Given the description of an element on the screen output the (x, y) to click on. 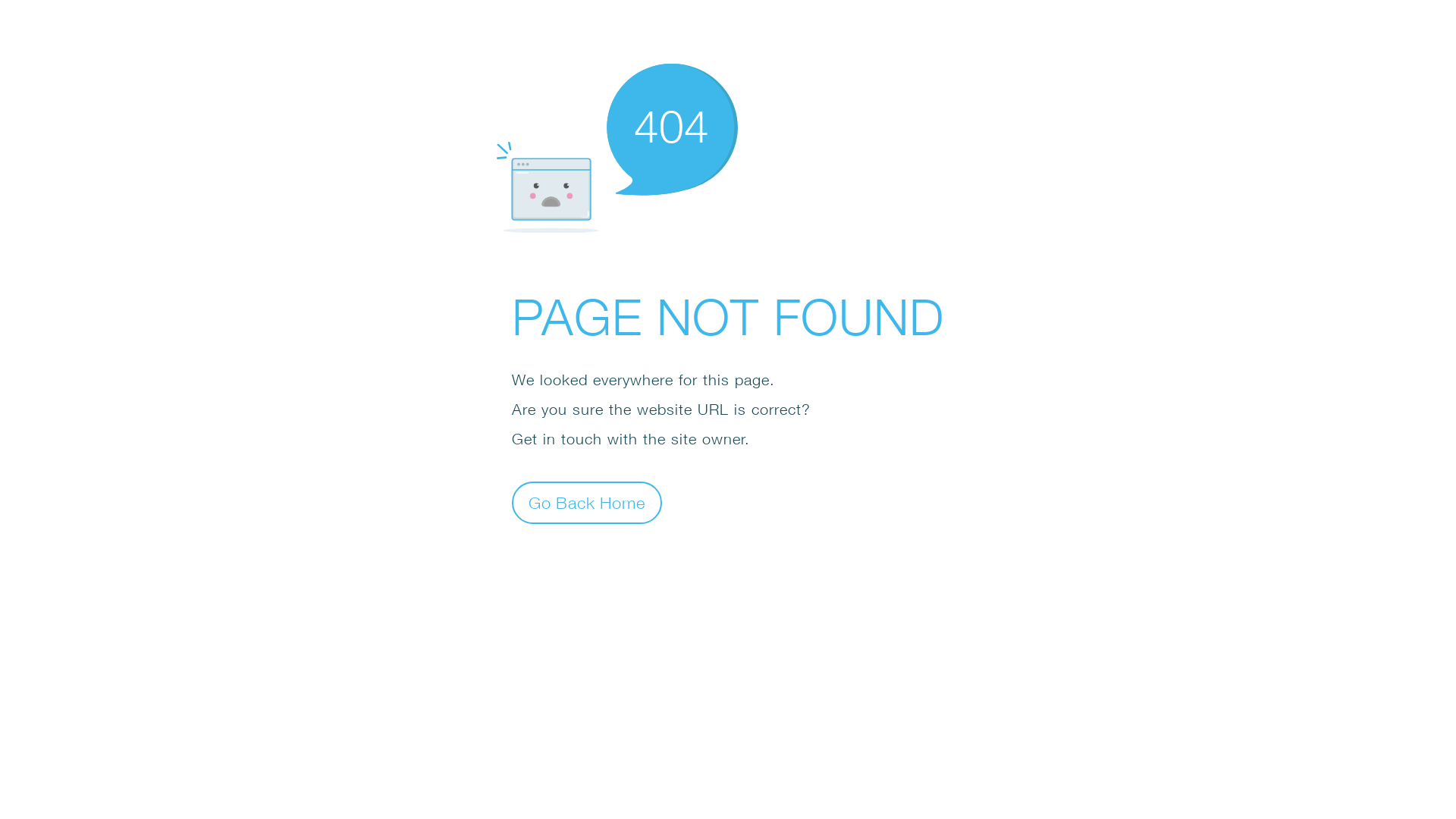
Go Back Home Element type: text (586, 502)
